Given the description of an element on the screen output the (x, y) to click on. 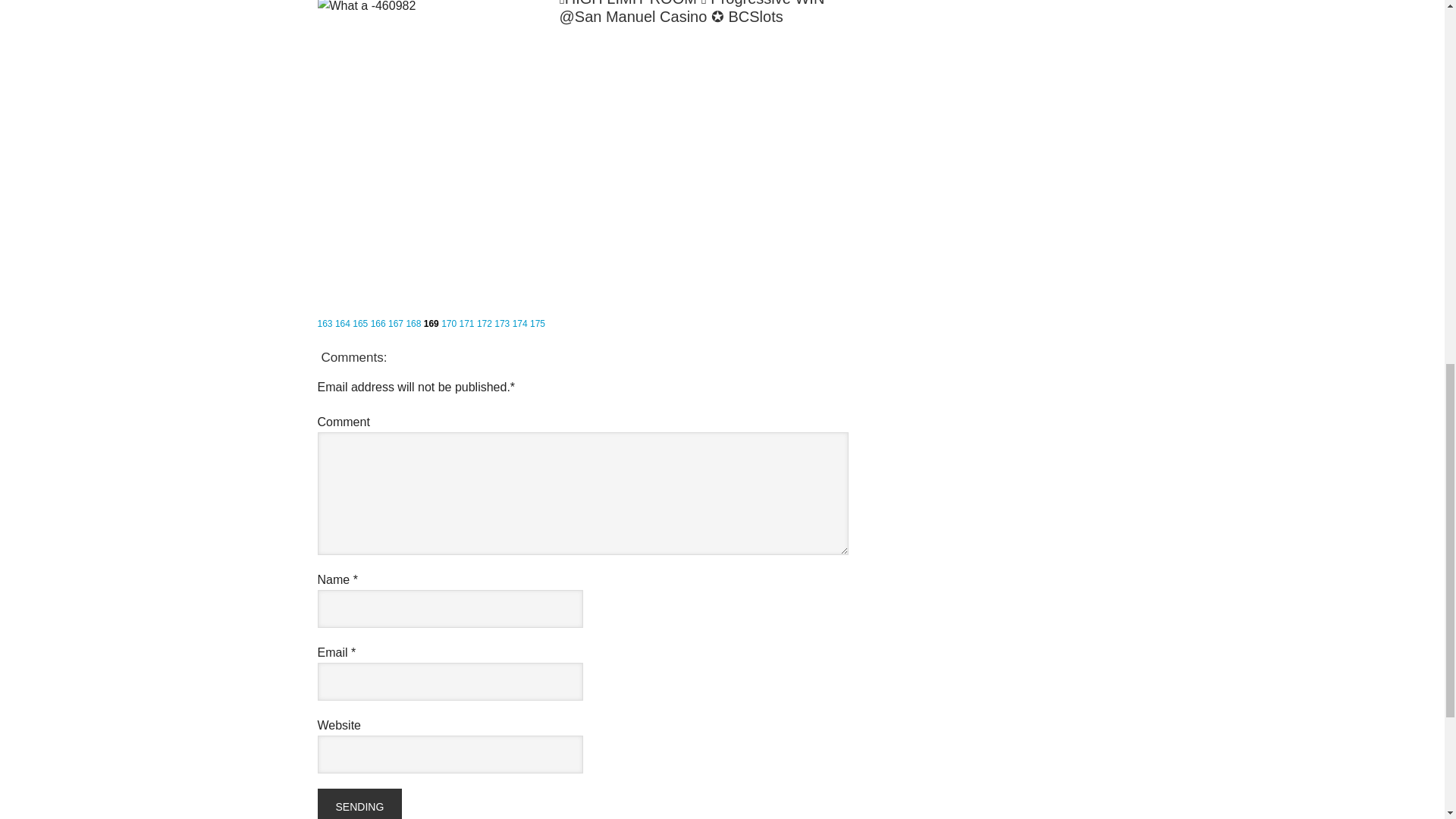
Sending (359, 803)
167 (395, 323)
163 (324, 323)
Sending (359, 803)
173 (502, 323)
165 (360, 323)
172 (484, 323)
170 (449, 323)
175 (536, 323)
164 (342, 323)
